Given the description of an element on the screen output the (x, y) to click on. 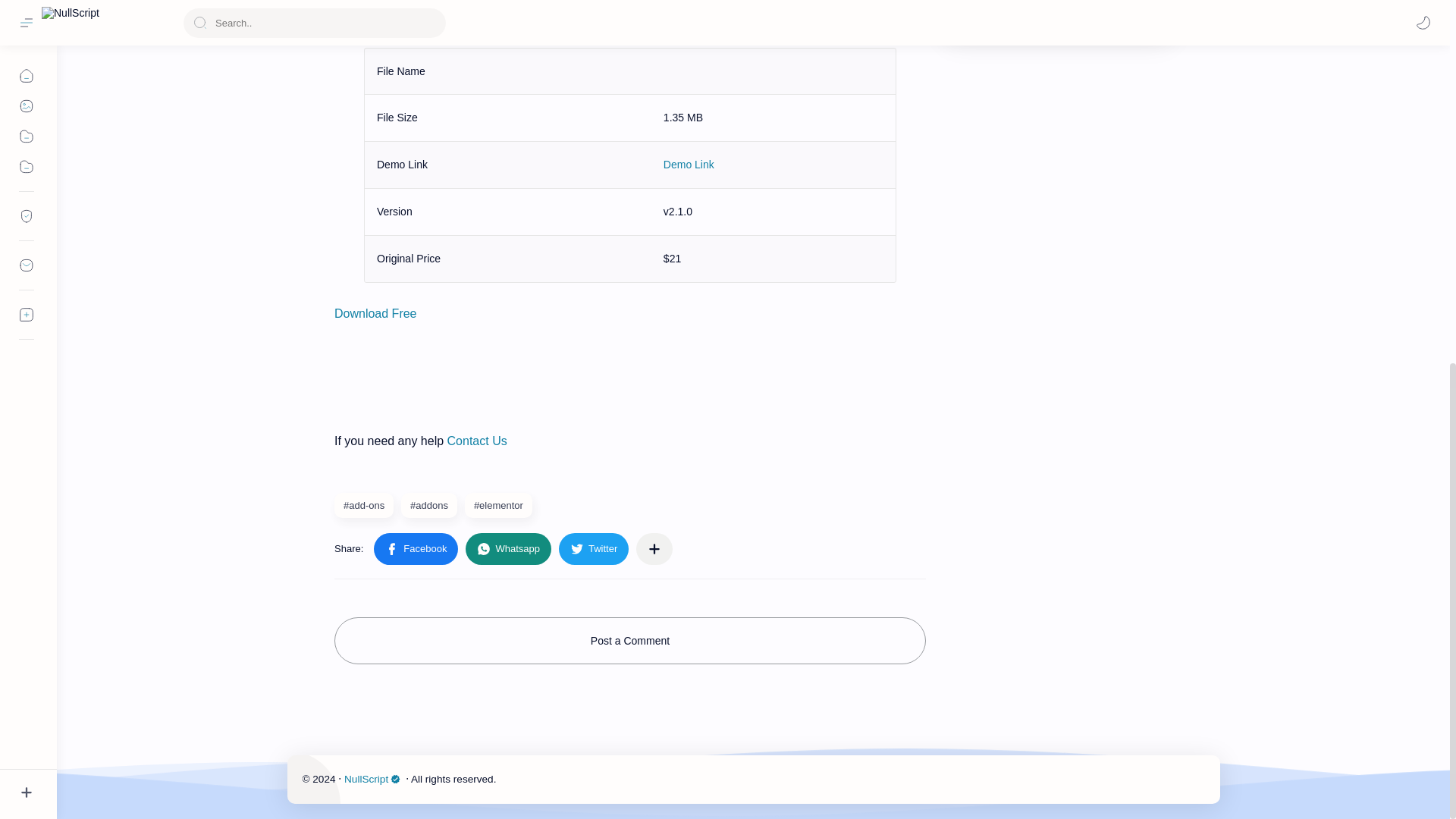
Contact Us (476, 440)
Demo Link (688, 164)
Download Free (375, 313)
